Given the description of an element on the screen output the (x, y) to click on. 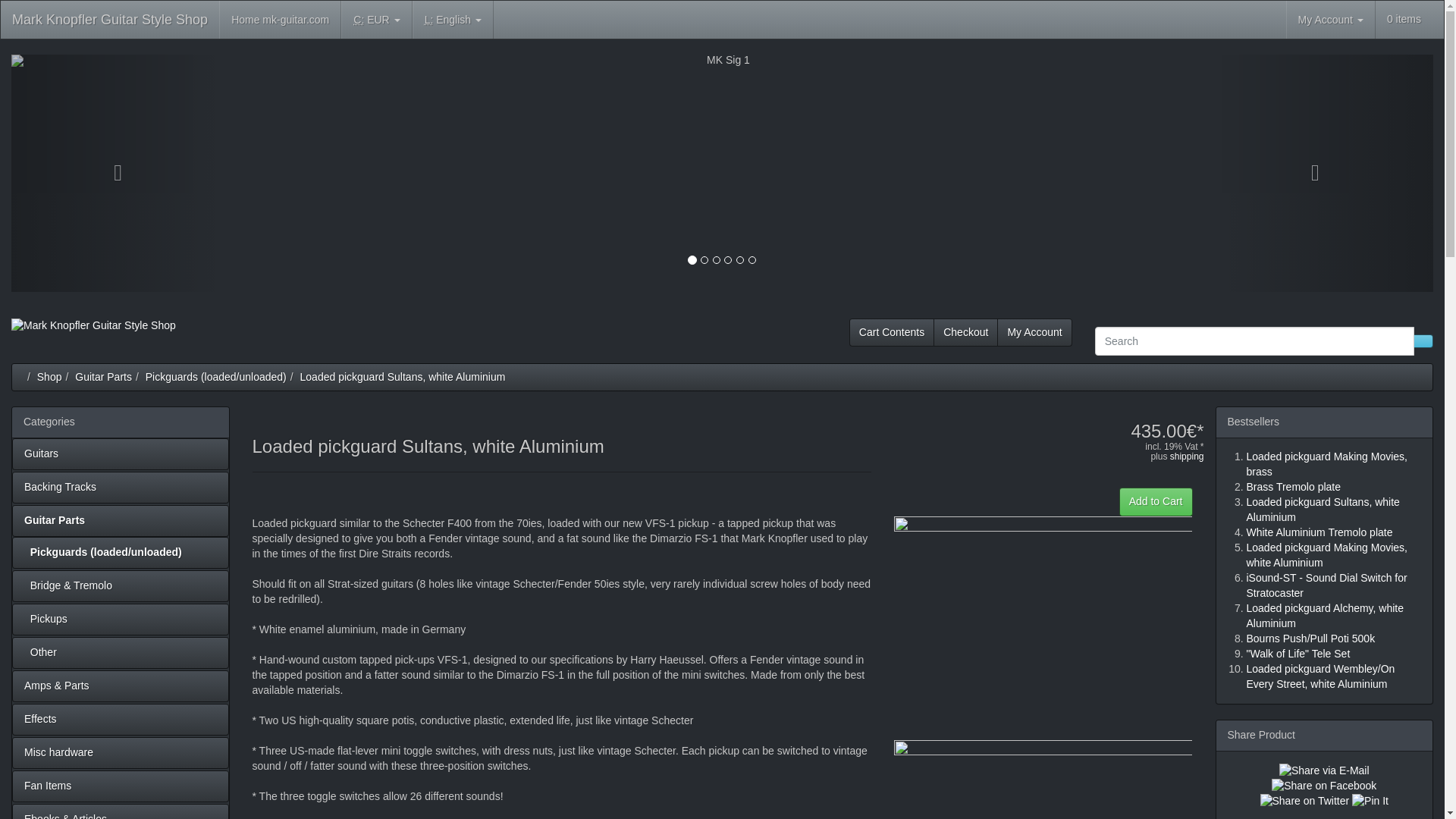
Next (1326, 172)
shipping (1187, 456)
Mark Knopfler Guitar Style Shop (110, 19)
Shop (49, 376)
Guitar Parts (103, 376)
Add to Cart (1155, 501)
Loaded pickguard Sultans, white Aluminium (402, 376)
C: EUR (376, 19)
Previous (117, 172)
Cart Contents (891, 332)
Mark Knopfler Guitar Style Shop (97, 337)
L: English (452, 19)
Home mk-guitar.com (279, 19)
My Account (1034, 332)
